Given the description of an element on the screen output the (x, y) to click on. 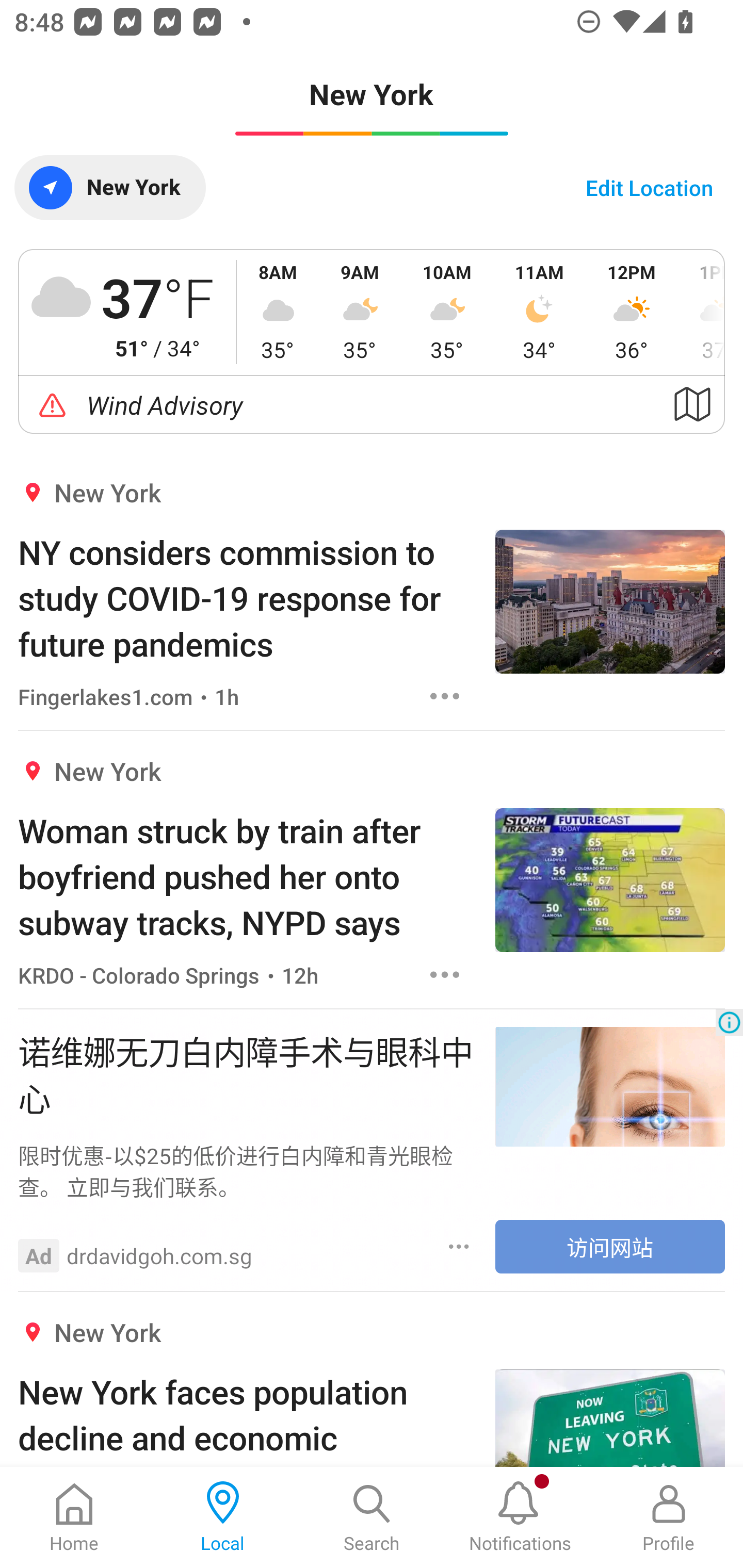
New York (109, 187)
Edit Location (648, 187)
8AM 35° (277, 311)
9AM 35° (359, 311)
10AM 35° (447, 311)
11AM 34° (539, 311)
12PM 36° (631, 311)
Wind Advisory (371, 405)
Options (444, 696)
Options (444, 975)
Ad Choices Icon (729, 1022)
诺维娜无刀白内障手术与眼科中心 (247, 1074)
限时优惠-以$25的低价进行白内障和青光眼检查。 立即与我们联系。 (247, 1169)
访问网站 (610, 1246)
Options (459, 1247)
drdavidgoh.com.sg (159, 1255)
Home (74, 1517)
Search (371, 1517)
Notifications, New notification Notifications (519, 1517)
Profile (668, 1517)
